Given the description of an element on the screen output the (x, y) to click on. 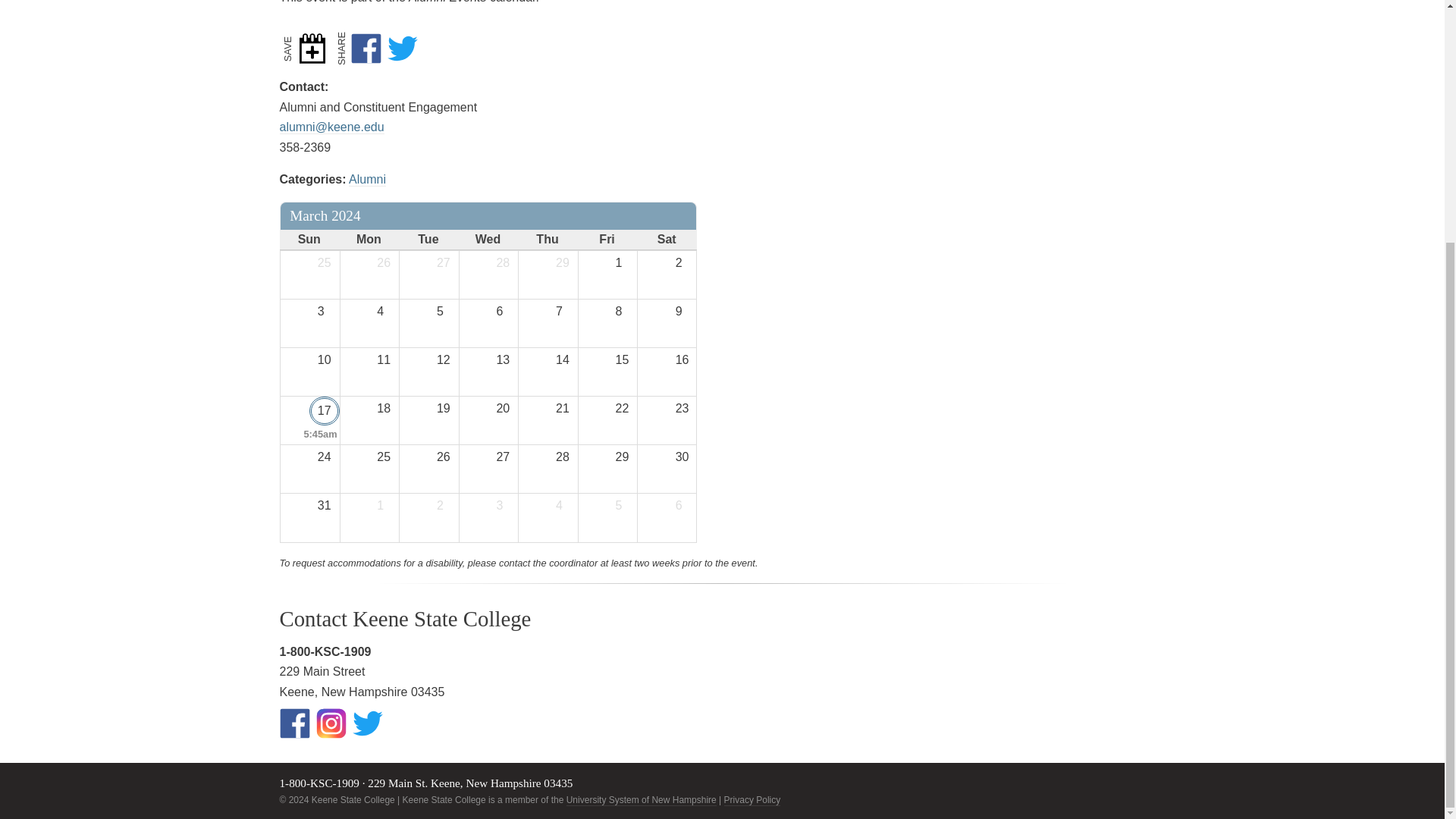
10 (325, 360)
Share this event on Facebook. (487, 240)
25 (368, 48)
5 (325, 262)
2 (444, 311)
4 (683, 262)
3 (384, 311)
1 (325, 311)
Sat (623, 262)
Sun (667, 239)
13 (309, 239)
28 (503, 360)
Alumni (503, 262)
